Given the description of an element on the screen output the (x, y) to click on. 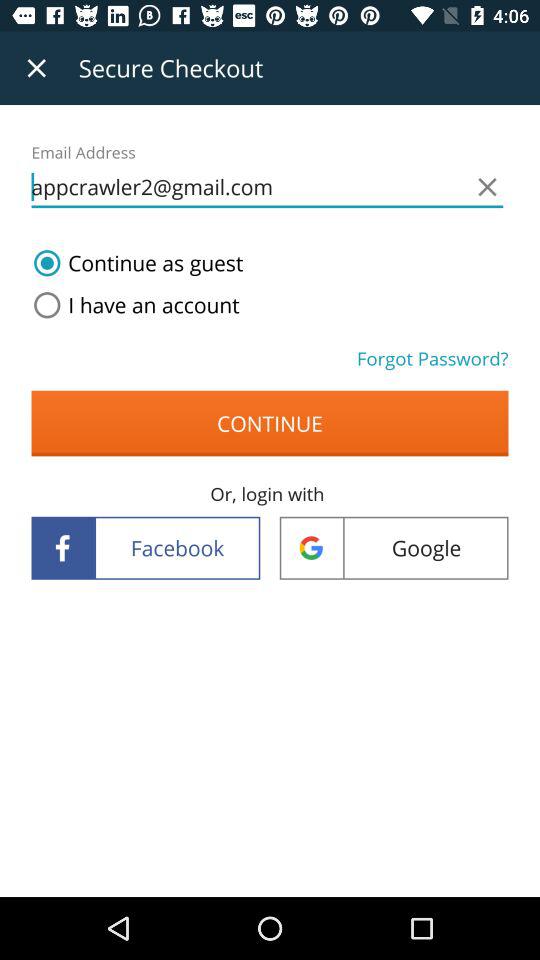
open icon below the continue as guest icon (132, 305)
